Given the description of an element on the screen output the (x, y) to click on. 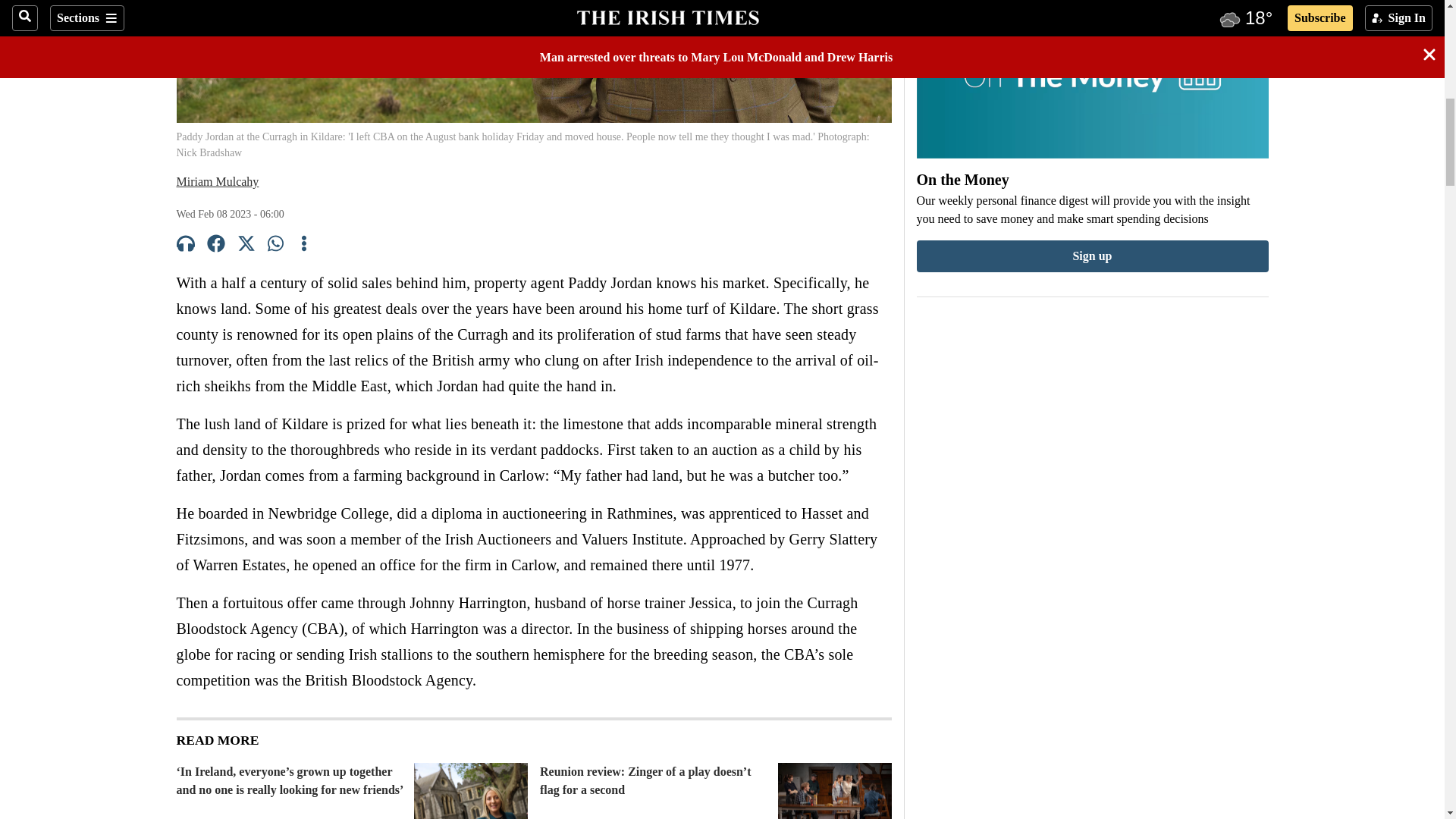
Facebook (215, 245)
WhatsApp (275, 245)
X (244, 245)
